Given the description of an element on the screen output the (x, y) to click on. 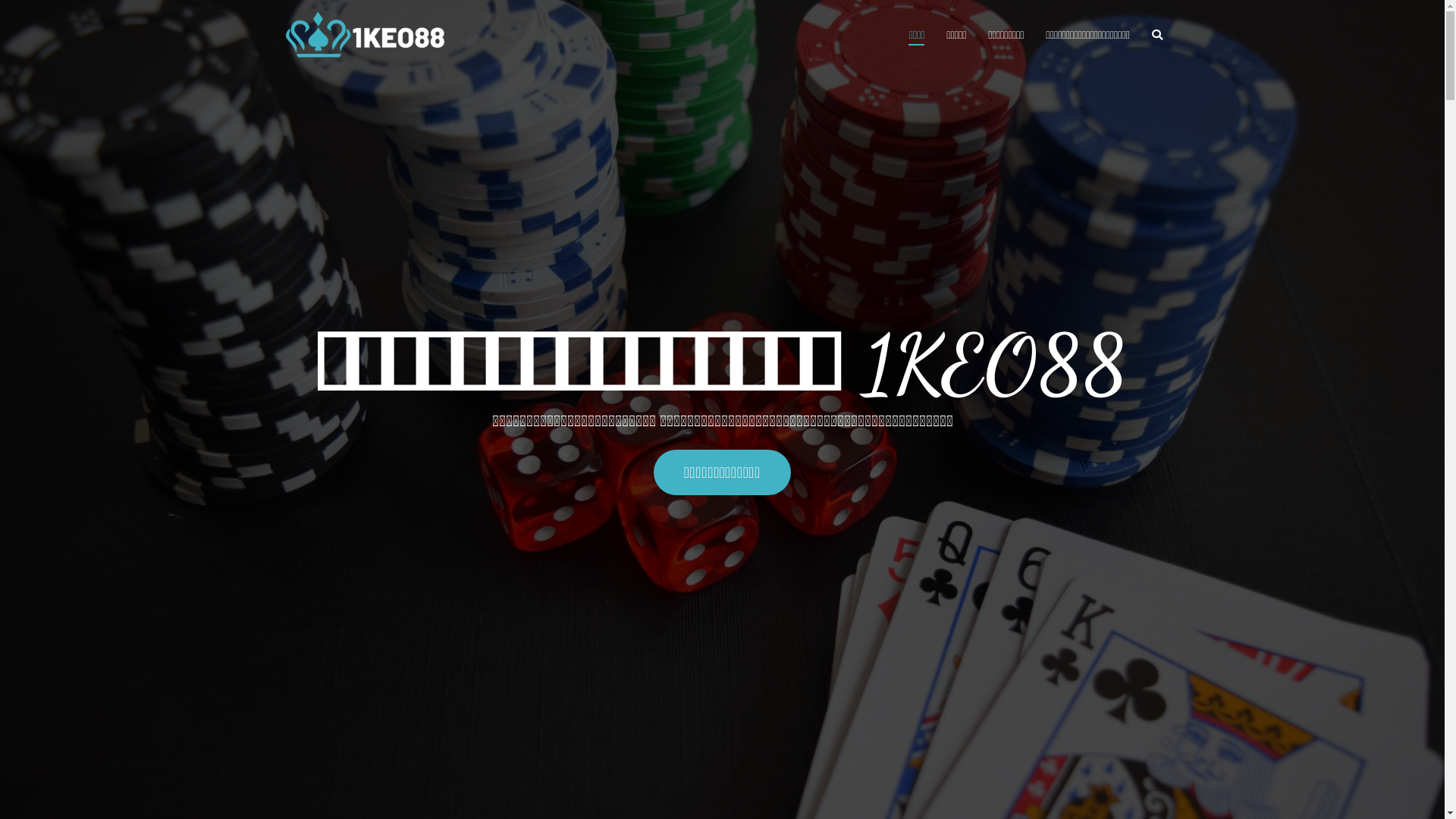
1KEO88 Element type: text (474, 45)
Search Element type: text (28, 15)
